Given the description of an element on the screen output the (x, y) to click on. 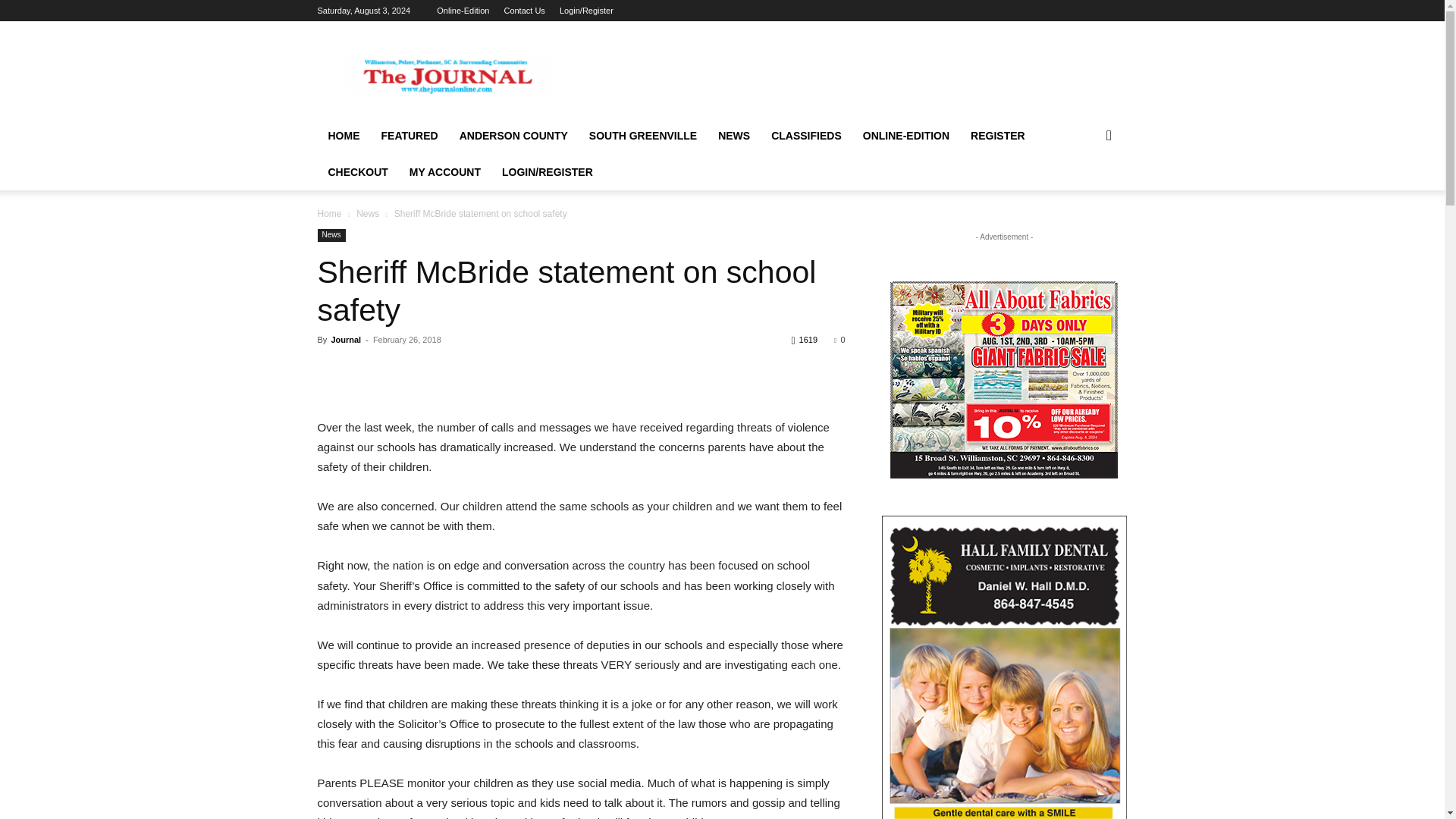
View all posts in News (367, 213)
